Given the description of an element on the screen output the (x, y) to click on. 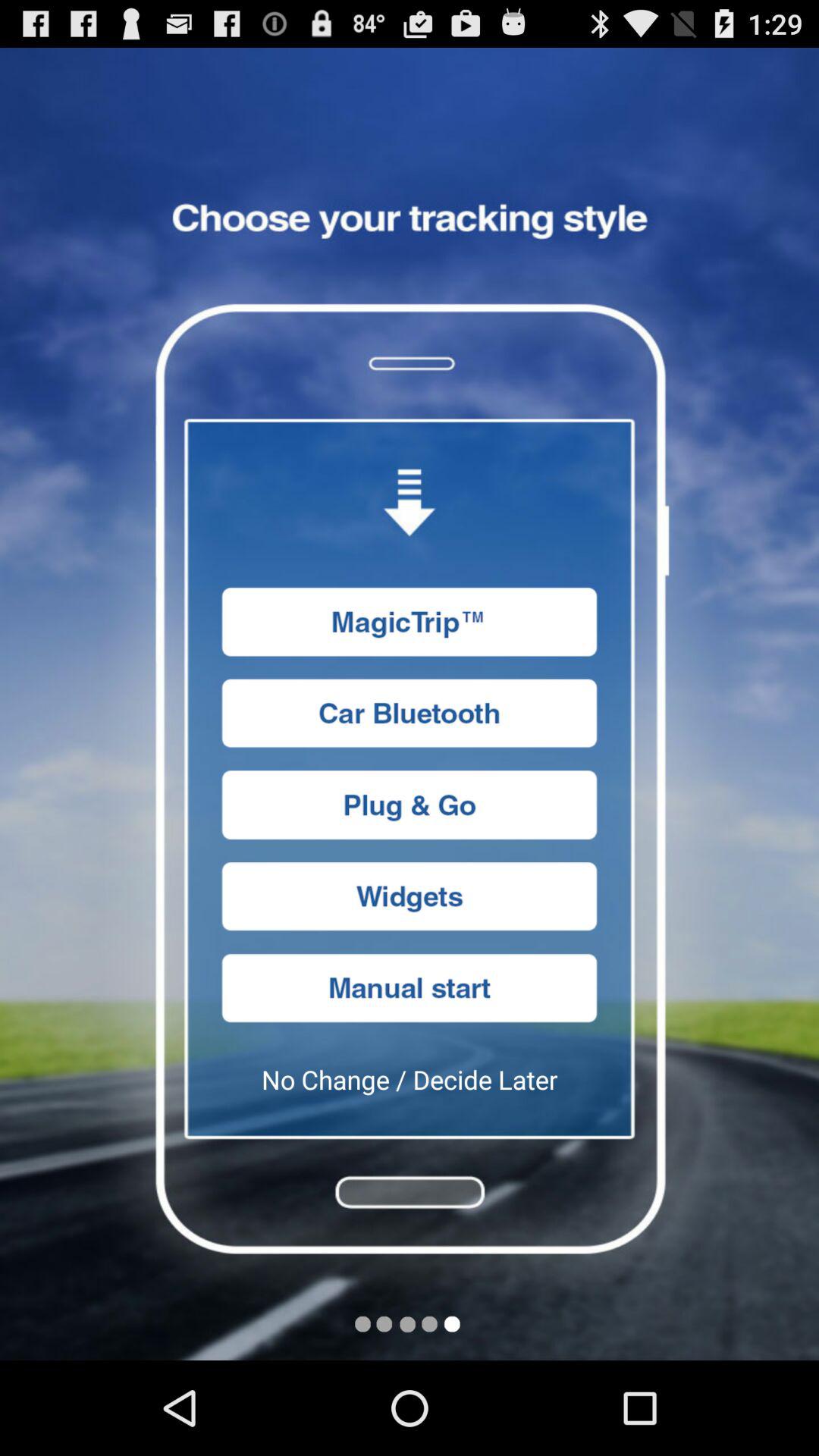
start tracking your trip manually (409, 987)
